Given the description of an element on the screen output the (x, y) to click on. 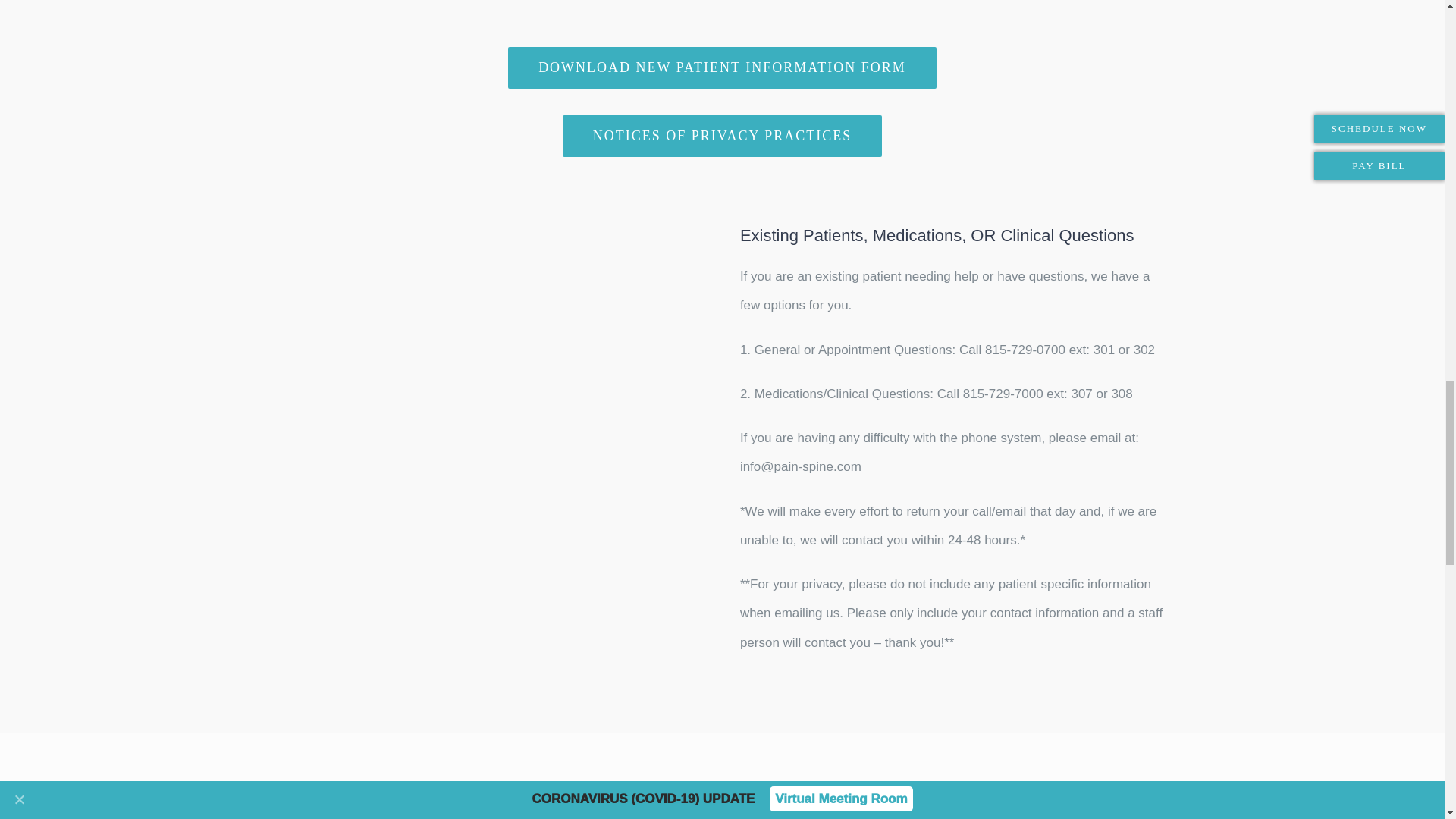
Close Up Of Doctor With Clipboard At hospital (491, 359)
